Given the description of an element on the screen output the (x, y) to click on. 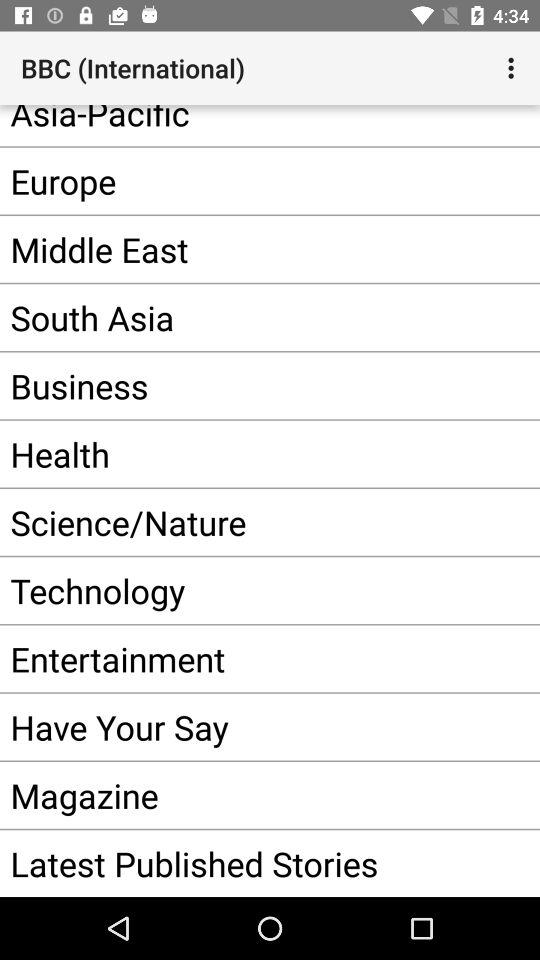
swipe until business (240, 385)
